Given the description of an element on the screen output the (x, y) to click on. 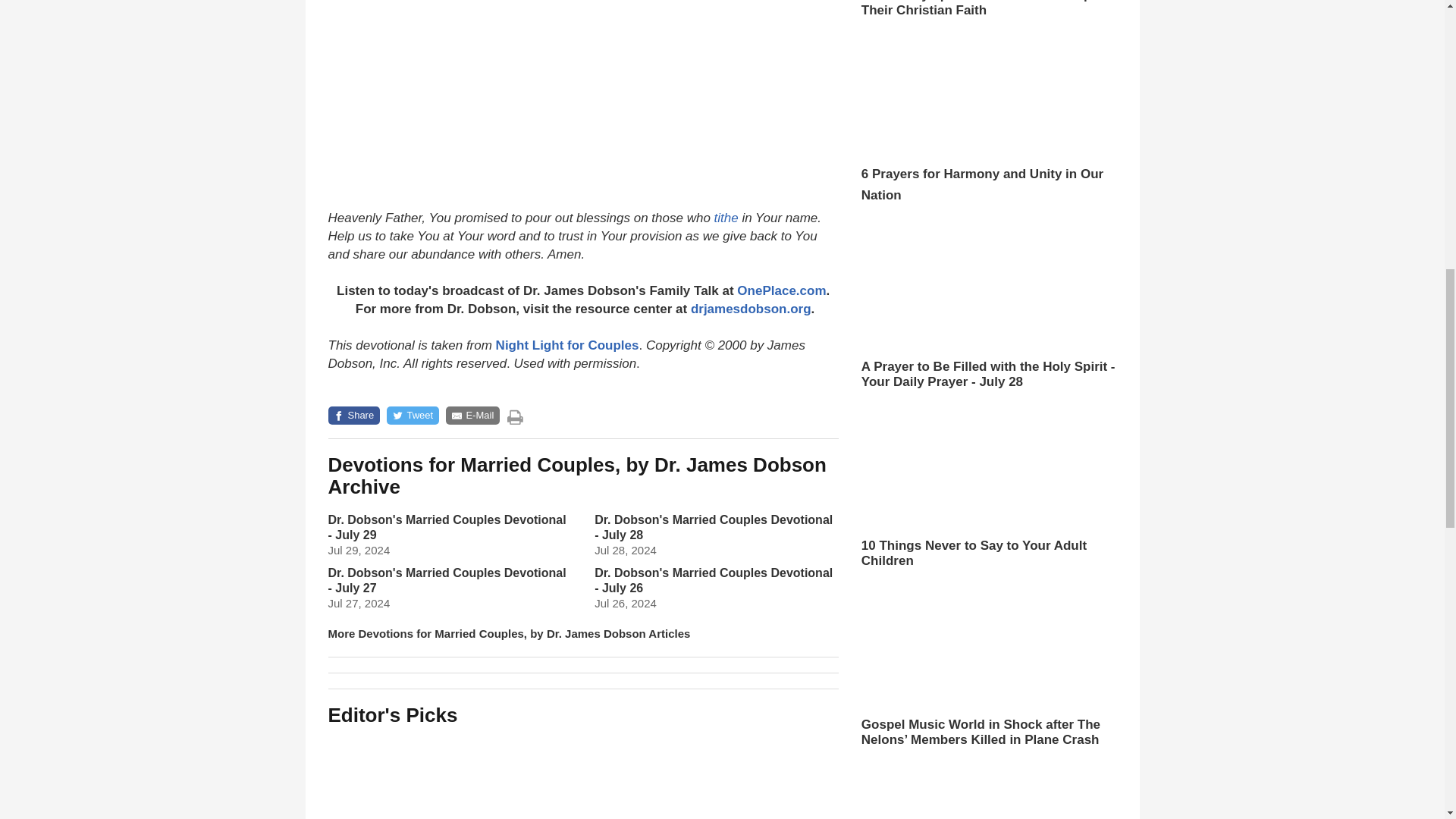
Shield Yourself with These 7 Morning Prayers for Protection (404, 776)
God Still Used Him (583, 776)
10 Things Never to Say to Your Adult Children (760, 776)
